Given the description of an element on the screen output the (x, y) to click on. 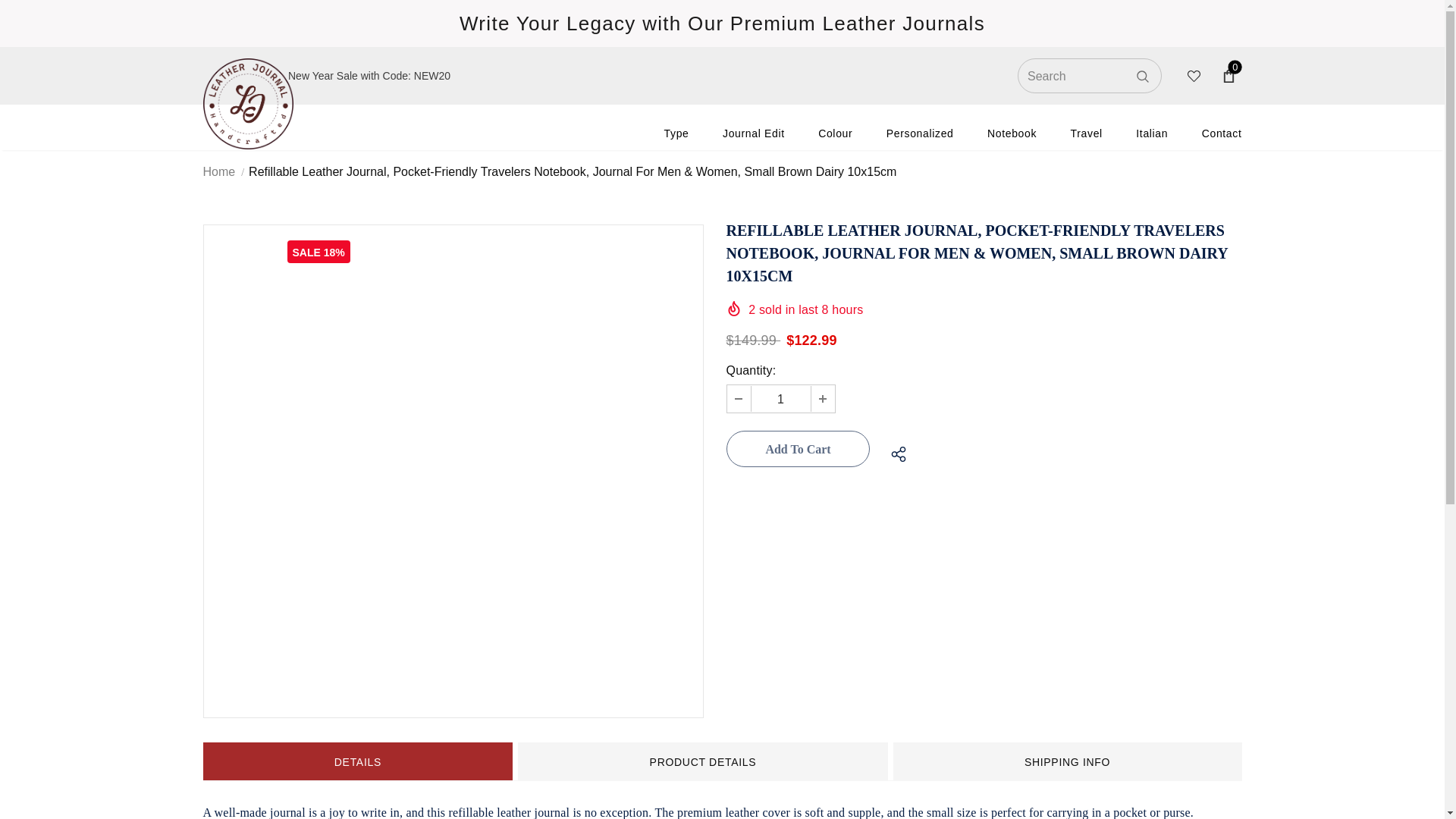
Contact (1221, 132)
0 (1228, 75)
1 (780, 398)
Travel (1086, 132)
Notebook (1011, 132)
Colour (834, 132)
Journal Edit (753, 132)
Add to cart (797, 448)
Home (219, 171)
Italian (1151, 132)
